Given the description of an element on the screen output the (x, y) to click on. 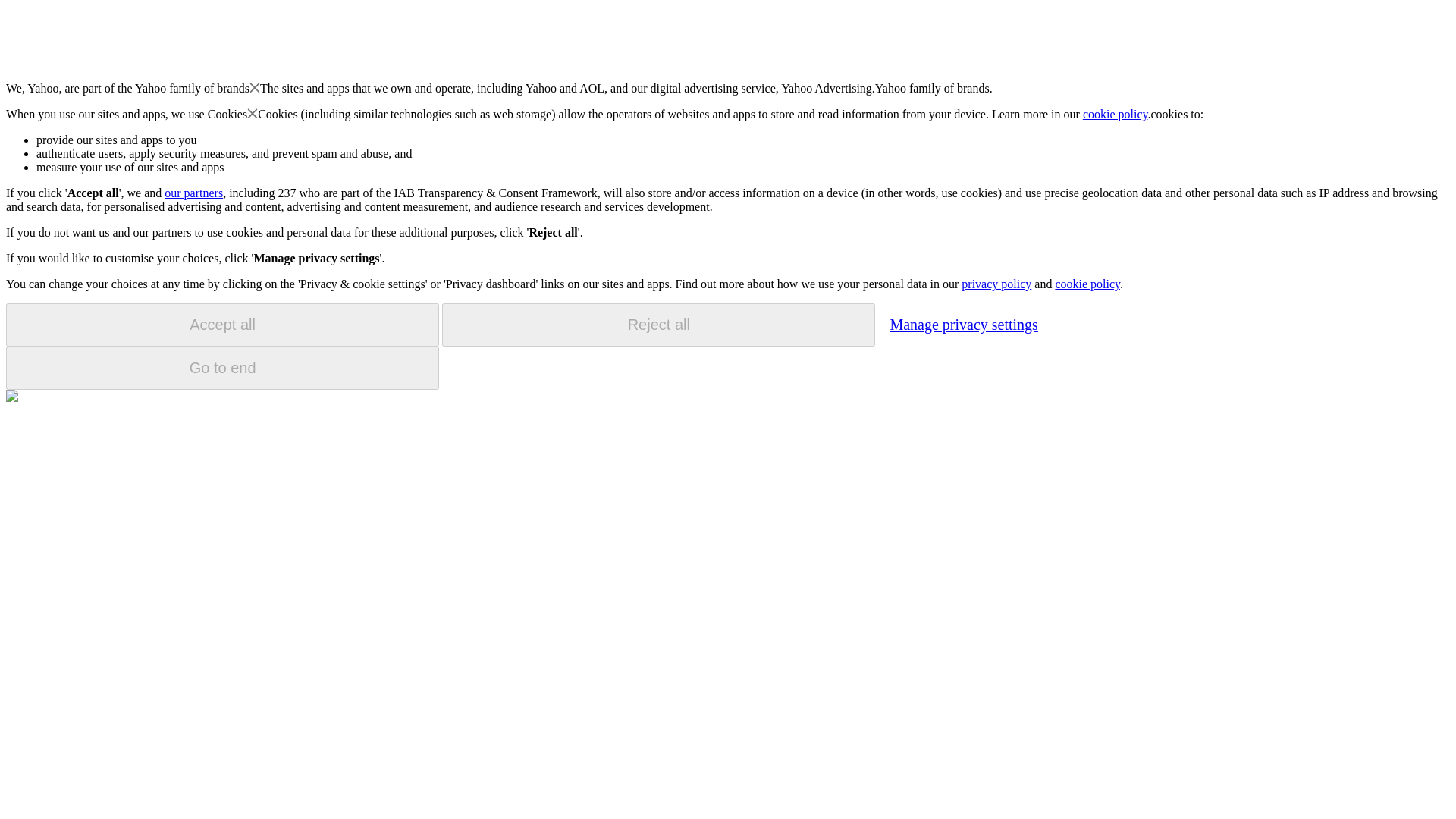
privacy policy (995, 283)
Reject all (658, 324)
our partners (193, 192)
Go to end (222, 367)
Accept all (222, 324)
cookie policy (1115, 113)
Manage privacy settings (963, 323)
cookie policy (1086, 283)
